Given the description of an element on the screen output the (x, y) to click on. 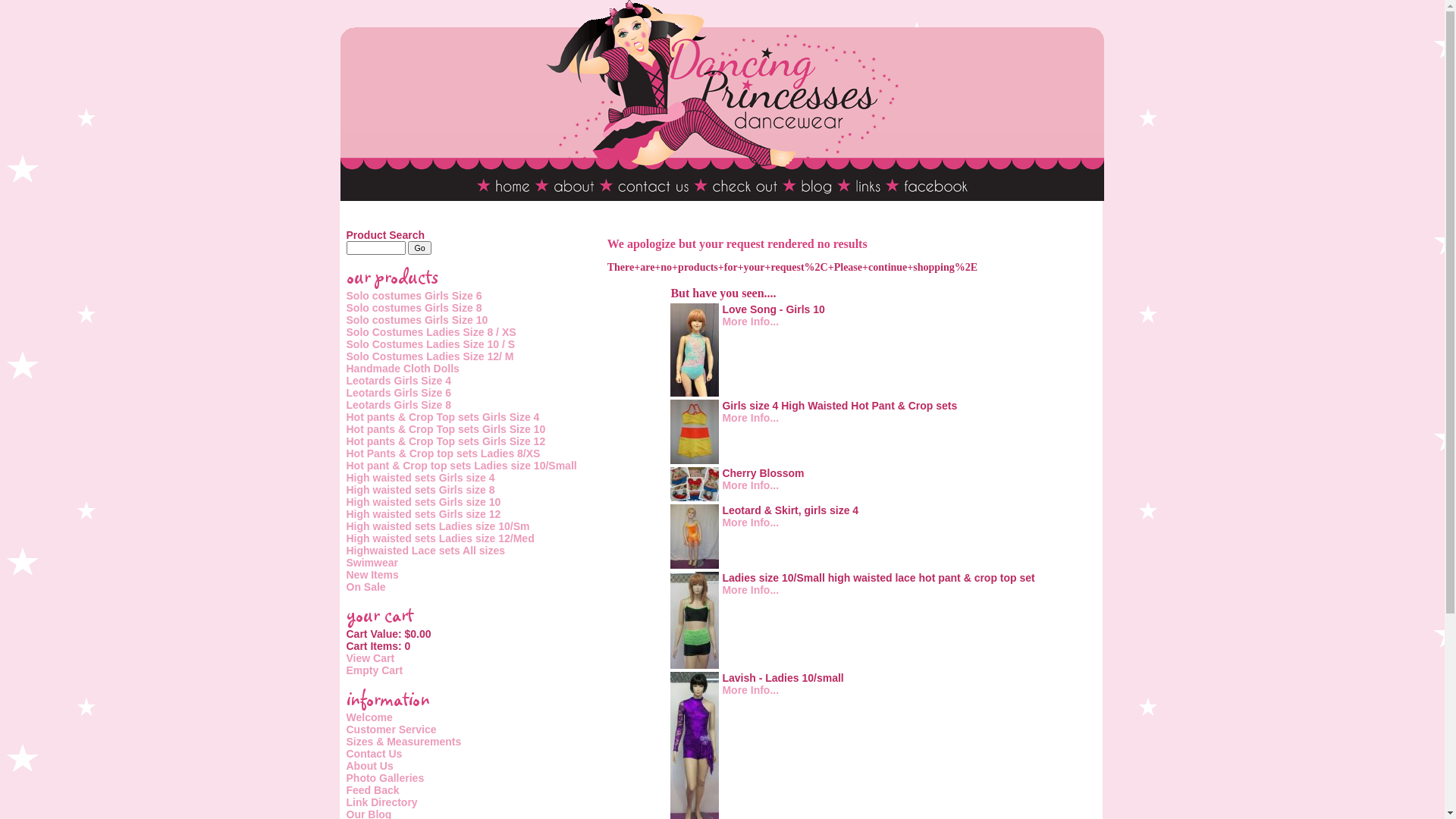
Feed Back Element type: text (371, 790)
High waisted sets Ladies size 12/Med Element type: text (439, 538)
High waisted sets Girls size 8 Element type: text (419, 489)
High waisted sets Girls size 4 Element type: text (419, 477)
More Info... Element type: text (749, 321)
About Us Element type: text (368, 765)
View Cart Element type: text (369, 658)
Contact Us Element type: text (373, 753)
Solo Costumes Ladies Size 10 / S Element type: text (429, 344)
Swimwear Element type: text (371, 562)
Sizes & Measurements Element type: text (403, 741)
Handmade Cloth Dolls Element type: text (401, 368)
Photo Galleries Element type: text (384, 777)
Empty Cart Element type: text (373, 670)
High waisted sets Ladies size 10/Sm Element type: text (437, 526)
Leotards Girls Size 8 Element type: text (398, 404)
New Items Element type: text (371, 574)
On Sale Element type: text (365, 586)
Solo Costumes Ladies Size 8 / XS Element type: text (430, 332)
More Info... Element type: text (749, 589)
High waisted sets Girls size 10 Element type: text (422, 501)
High waisted sets Girls size 12 Element type: text (422, 514)
Solo Costumes Ladies Size 12/ M Element type: text (429, 356)
More Info... Element type: text (749, 522)
Hot pants & Crop Top sets Girls Size 4 Element type: text (442, 417)
More Info... Element type: text (749, 690)
Hot pant & Crop top sets Ladies size 10/Small Element type: text (460, 465)
Welcome Element type: text (368, 717)
Hot pants & Crop Top sets Girls Size 10 Element type: text (445, 429)
More Info... Element type: text (749, 485)
Leotards Girls Size 6 Element type: text (398, 392)
Customer Service Element type: text (390, 729)
Solo costumes Girls Size 8 Element type: text (413, 307)
Highwaisted Lace sets All sizes Element type: text (425, 550)
Solo costumes Girls Size 10 Element type: text (416, 319)
Hot pants & Crop Top sets Girls Size 12 Element type: text (445, 441)
Leotards Girls Size 4 Element type: text (398, 380)
More Info... Element type: text (749, 417)
Hot Pants & Crop top sets Ladies 8/XS Element type: text (442, 453)
Solo costumes Girls Size 6 Element type: text (413, 295)
Link Directory Element type: text (381, 802)
Go Element type: text (418, 247)
